Given the description of an element on the screen output the (x, y) to click on. 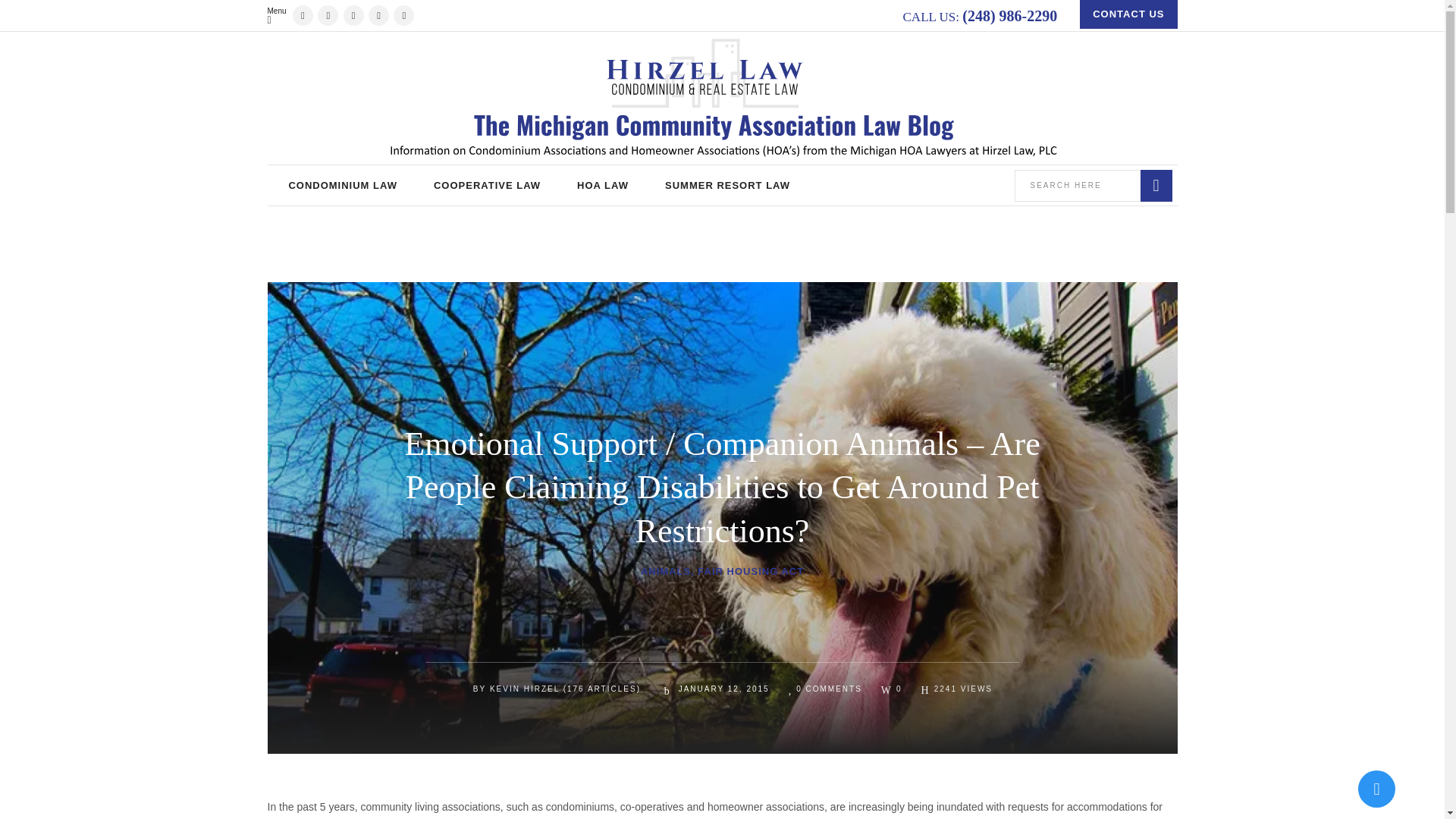
Like this (891, 688)
HOA LAW (602, 185)
COOPERATIVE LAW (486, 185)
CONTACT US (1128, 14)
CONDOMINIUM LAW (341, 185)
